Given the description of an element on the screen output the (x, y) to click on. 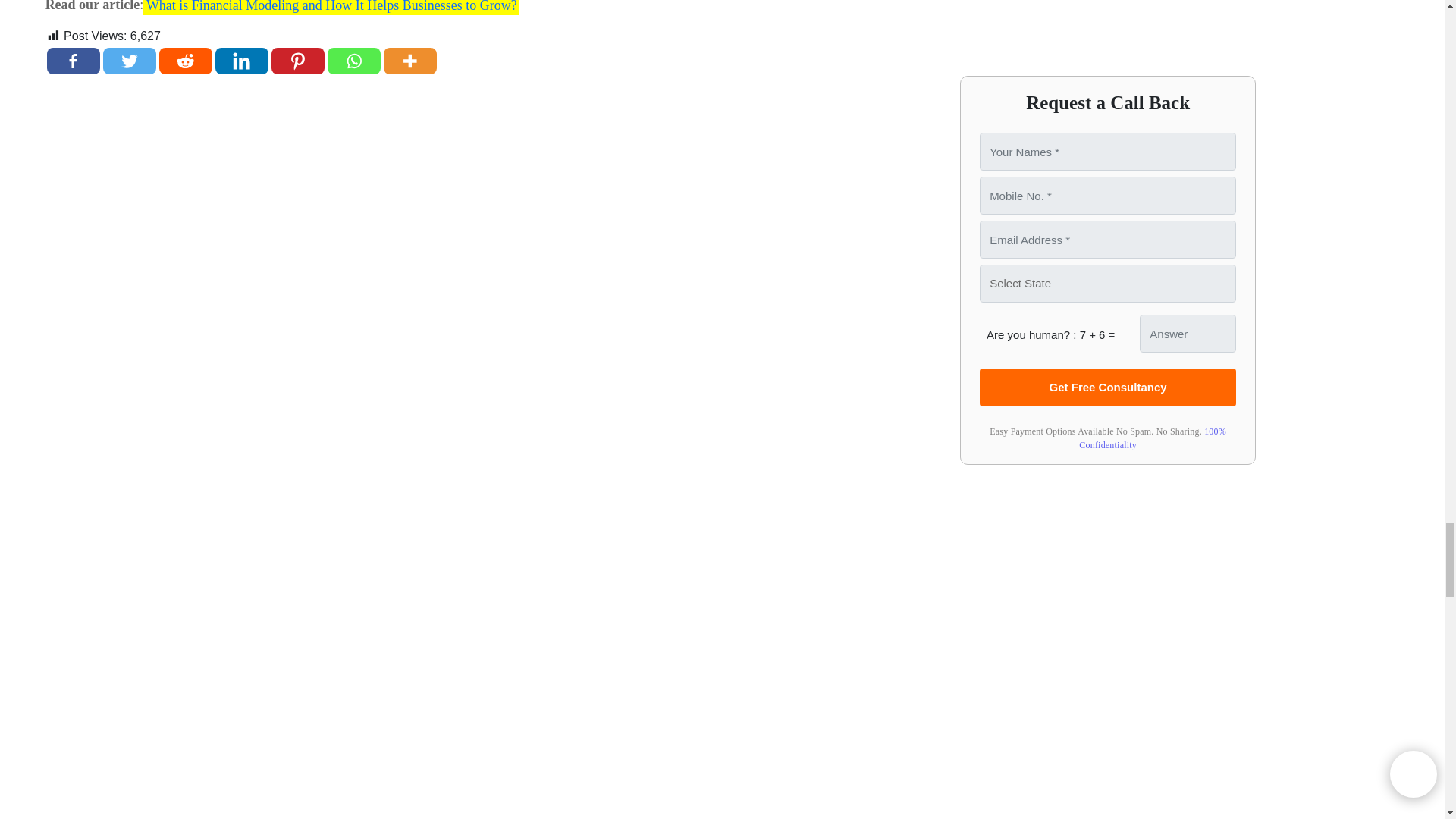
More (410, 60)
Reddit (185, 60)
Twitter (129, 60)
Pinterest (297, 60)
Linkedin (241, 60)
Whatsapp (353, 60)
Facebook (73, 60)
